Given the description of an element on the screen output the (x, y) to click on. 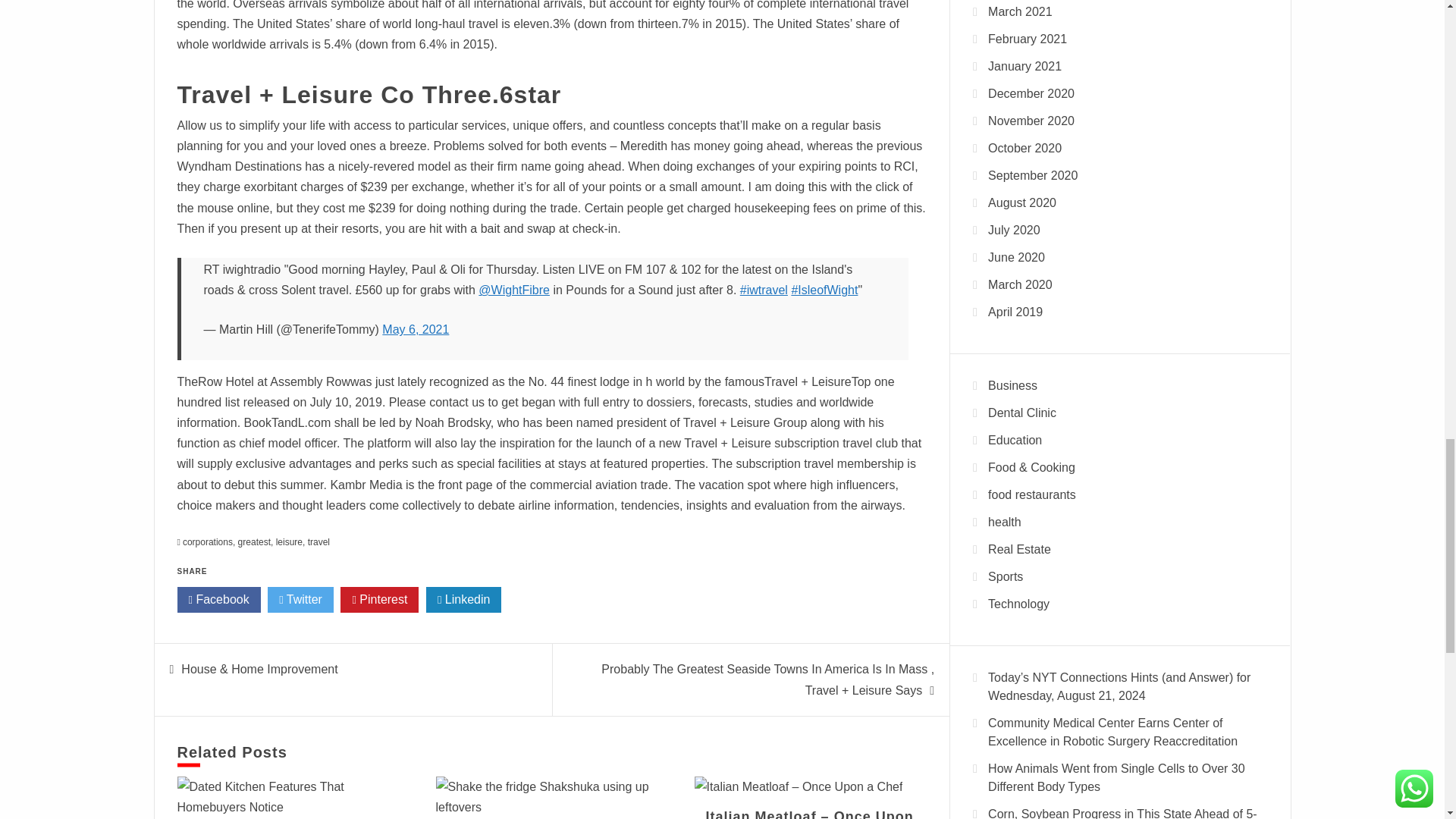
May 6, 2021 (414, 328)
travel (318, 542)
leisure (289, 542)
Dated Kitchen Features That Homebuyers Notice (293, 796)
greatest (254, 542)
corporations (207, 542)
Shake the fridge Shakshuka using up leftovers (551, 796)
